Given the description of an element on the screen output the (x, y) to click on. 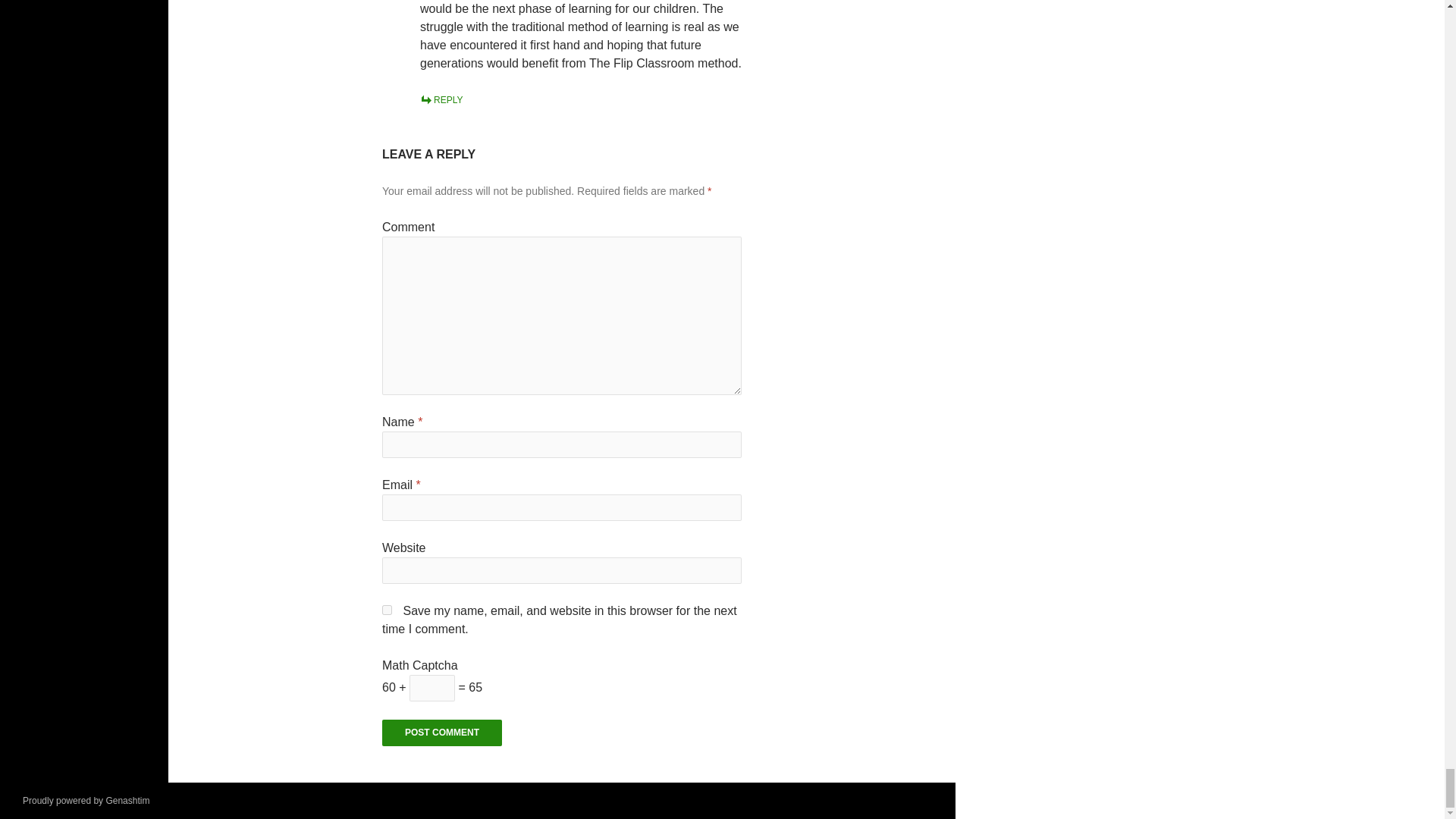
Post Comment (441, 732)
yes (386, 610)
